Given the description of an element on the screen output the (x, y) to click on. 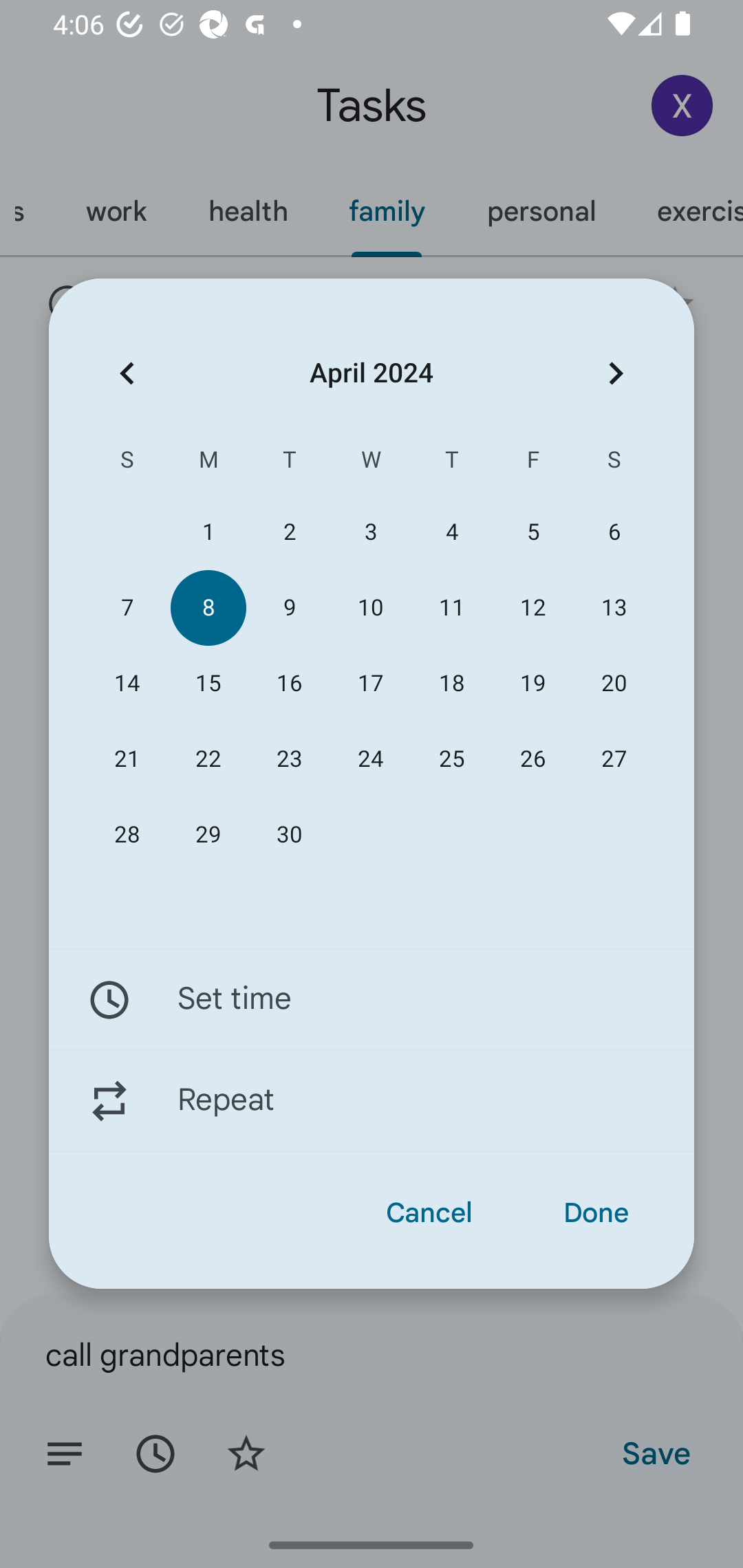
Previous month (126, 372)
Next month (615, 372)
1 01 April 2024 (207, 531)
2 02 April 2024 (288, 531)
3 03 April 2024 (370, 531)
4 04 April 2024 (451, 531)
5 05 April 2024 (532, 531)
6 06 April 2024 (613, 531)
7 07 April 2024 (126, 608)
8 08 April 2024 (207, 608)
9 09 April 2024 (288, 608)
10 10 April 2024 (370, 608)
11 11 April 2024 (451, 608)
12 12 April 2024 (532, 608)
13 13 April 2024 (613, 608)
14 14 April 2024 (126, 683)
15 15 April 2024 (207, 683)
16 16 April 2024 (288, 683)
17 17 April 2024 (370, 683)
18 18 April 2024 (451, 683)
19 19 April 2024 (532, 683)
20 20 April 2024 (613, 683)
21 21 April 2024 (126, 758)
22 22 April 2024 (207, 758)
23 23 April 2024 (288, 758)
24 24 April 2024 (370, 758)
25 25 April 2024 (451, 758)
26 26 April 2024 (532, 758)
27 27 April 2024 (613, 758)
28 28 April 2024 (126, 834)
29 29 April 2024 (207, 834)
30 30 April 2024 (288, 834)
Set time (371, 999)
Repeat (371, 1101)
Cancel (429, 1213)
Done (595, 1213)
